Given the description of an element on the screen output the (x, y) to click on. 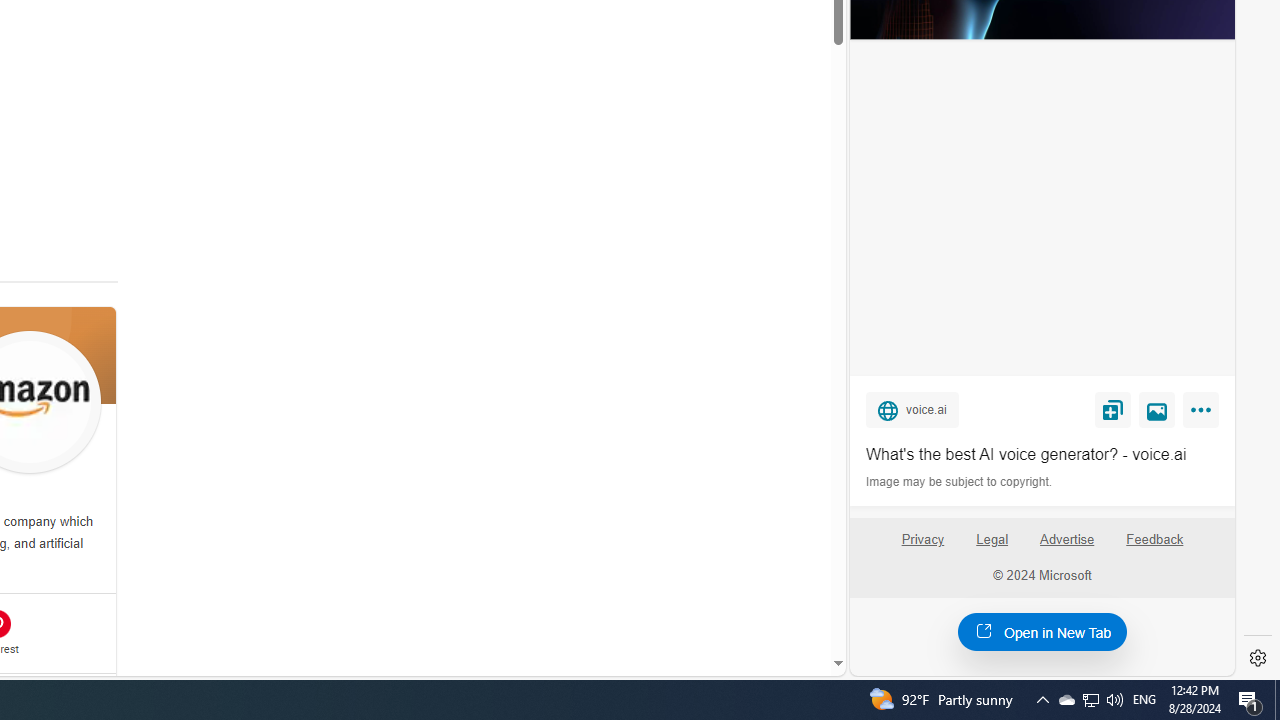
Privacy (922, 547)
Legal (991, 539)
Privacy (922, 539)
Feedback (1155, 539)
